Given the description of an element on the screen output the (x, y) to click on. 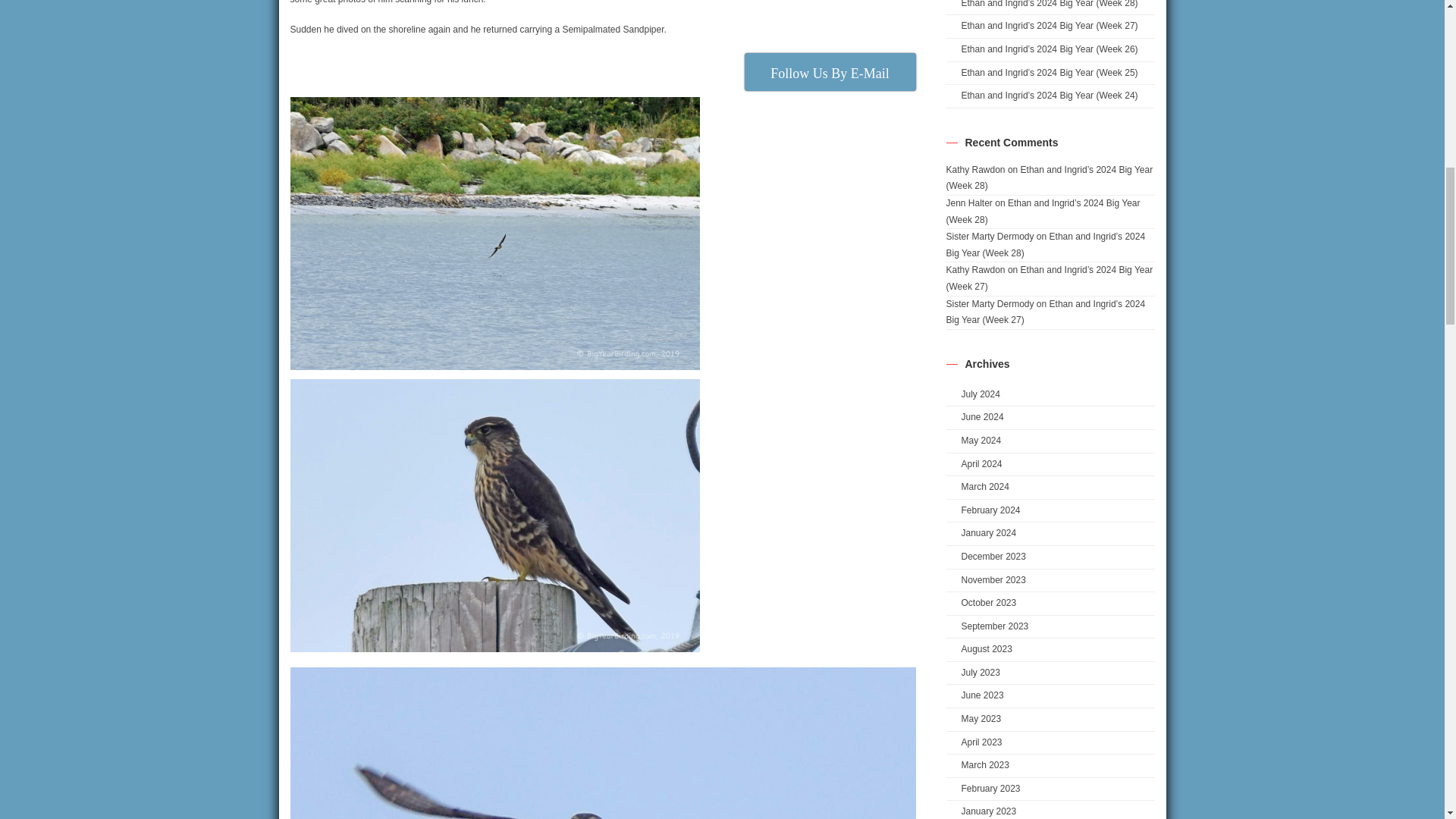
Never Miss a New Blog Post (829, 71)
